Given the description of an element on the screen output the (x, y) to click on. 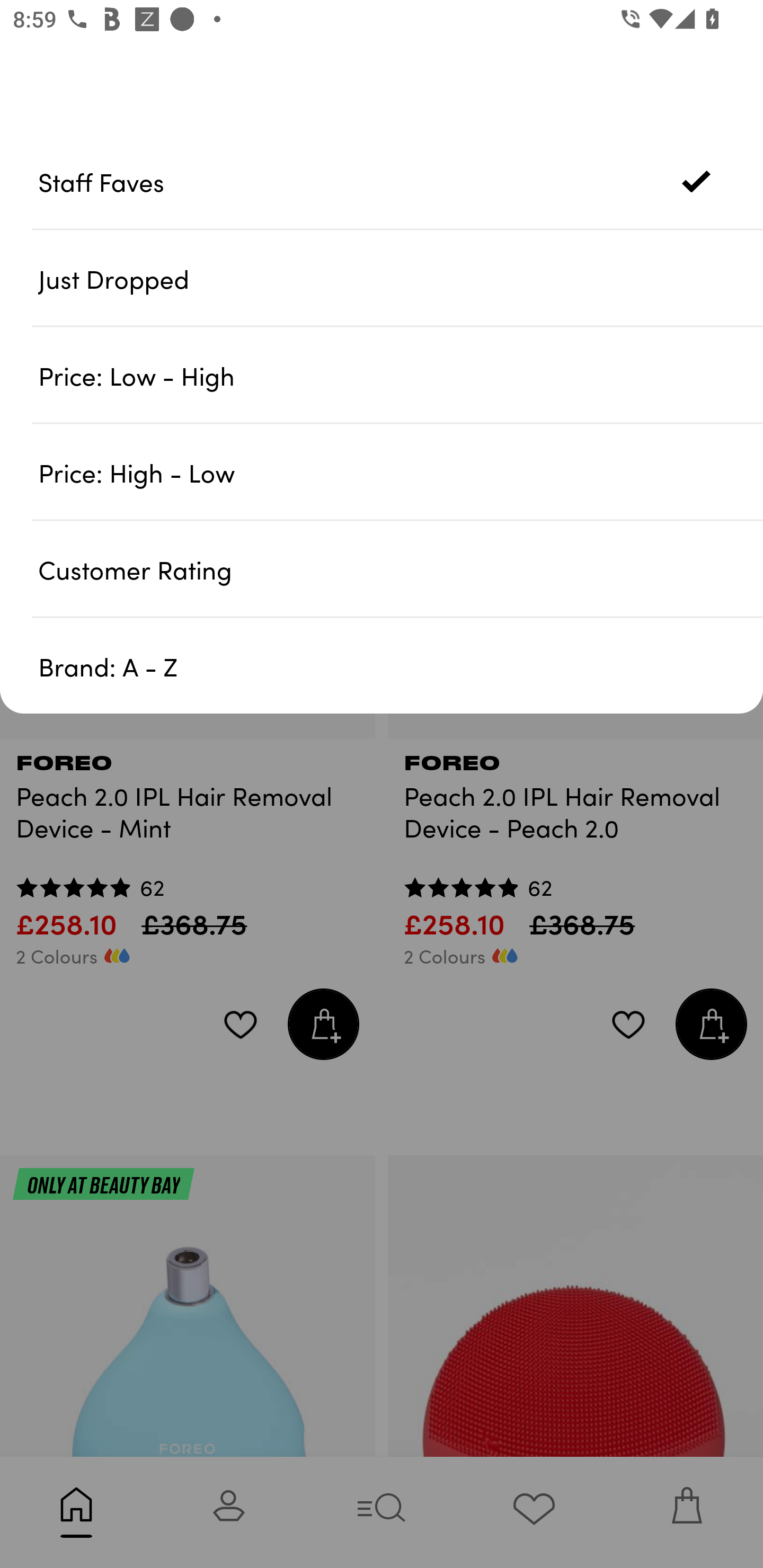
Staff Faves (400, 180)
Just Dropped (400, 278)
Price: Low - High (400, 375)
Price: High - Low (400, 471)
Customer Rating (400, 568)
Brand: A - Z (400, 665)
